Given the description of an element on the screen output the (x, y) to click on. 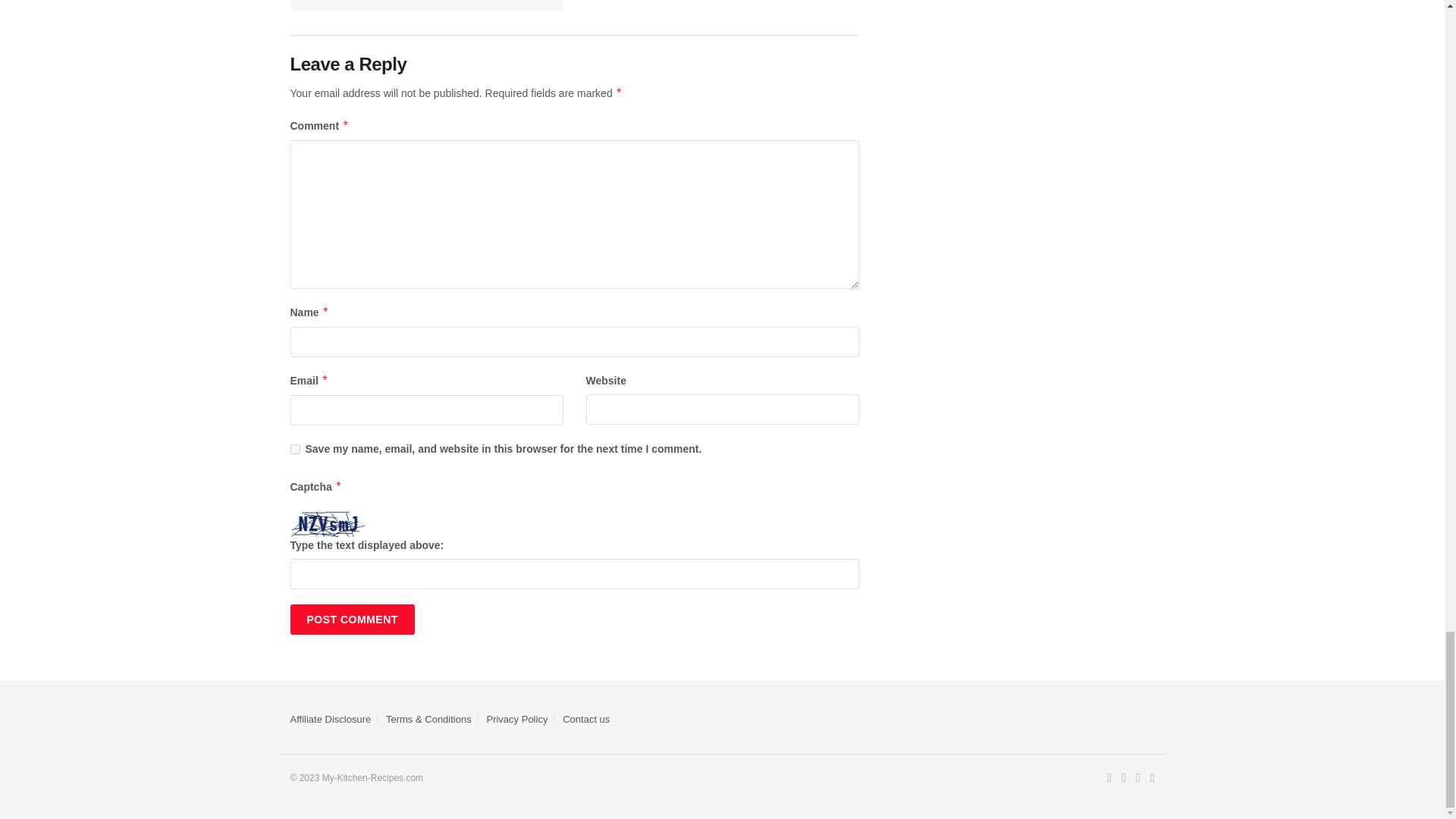
yes (294, 449)
Post Comment (351, 619)
